Given the description of an element on the screen output the (x, y) to click on. 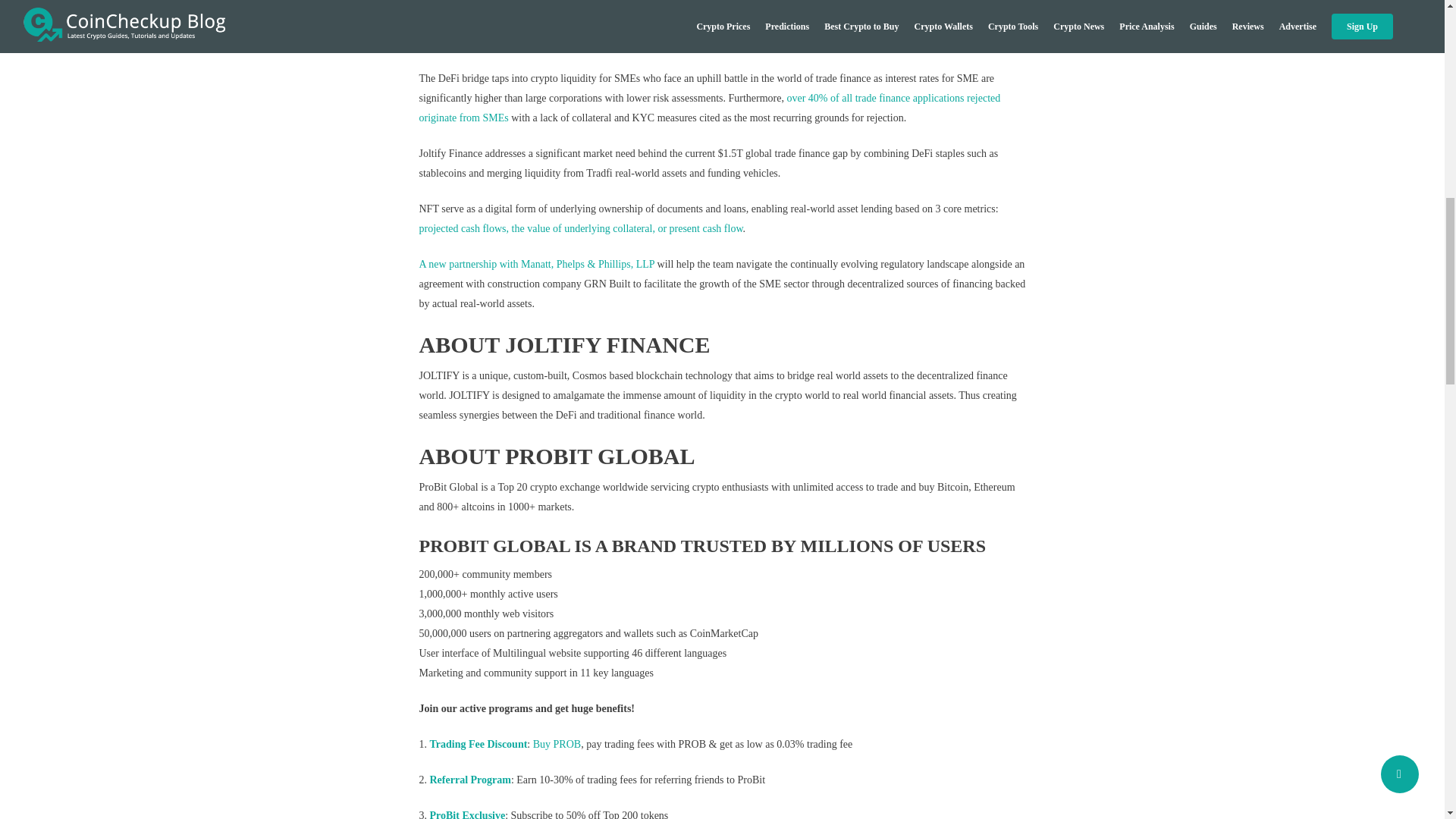
Trading Fee Discount (478, 744)
Buy PROB (556, 744)
ProBit Exclusive (467, 814)
Referral Program (470, 779)
